Given the description of an element on the screen output the (x, y) to click on. 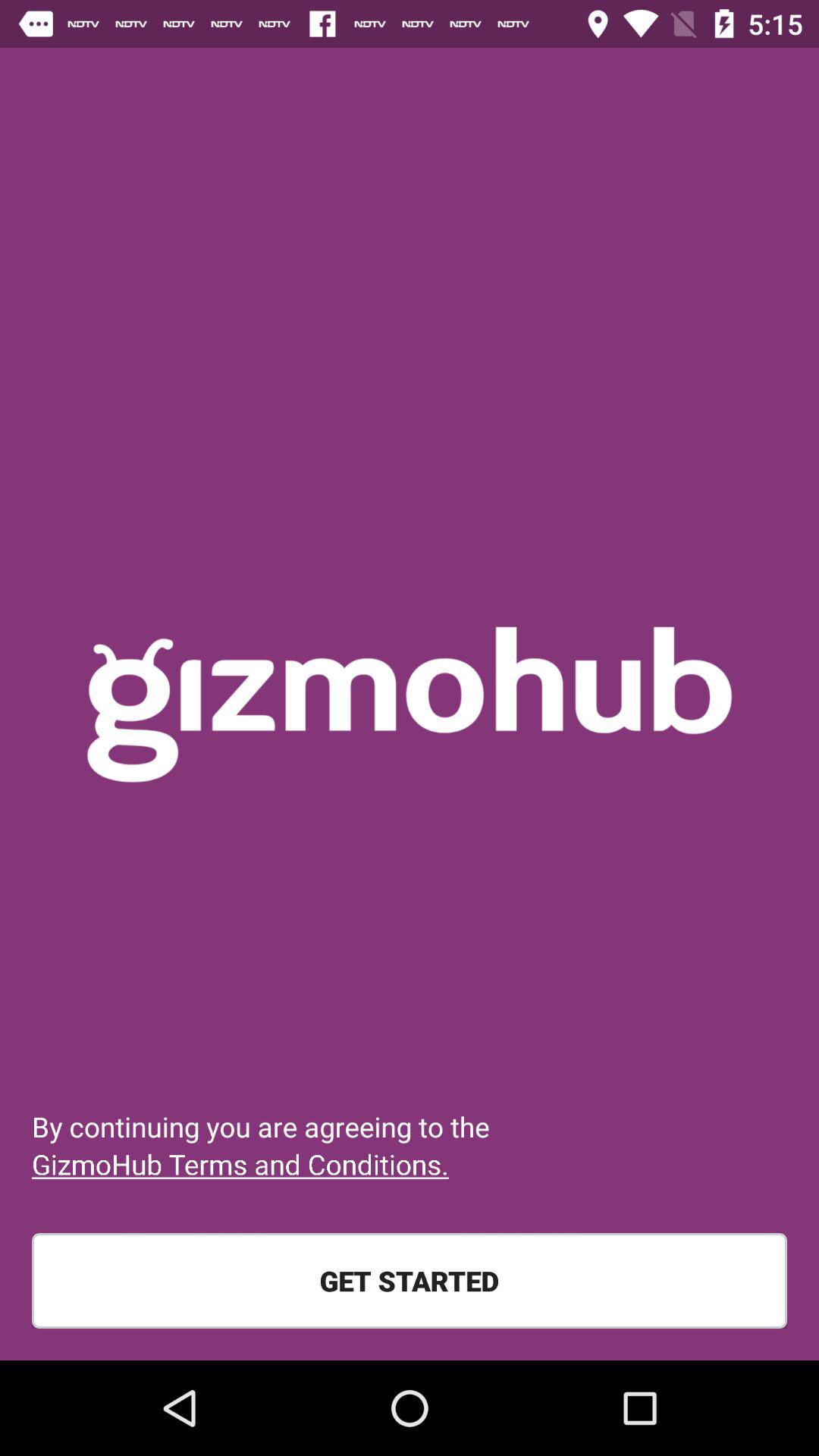
choose item below gizmohub terms and icon (409, 1280)
